Given the description of an element on the screen output the (x, y) to click on. 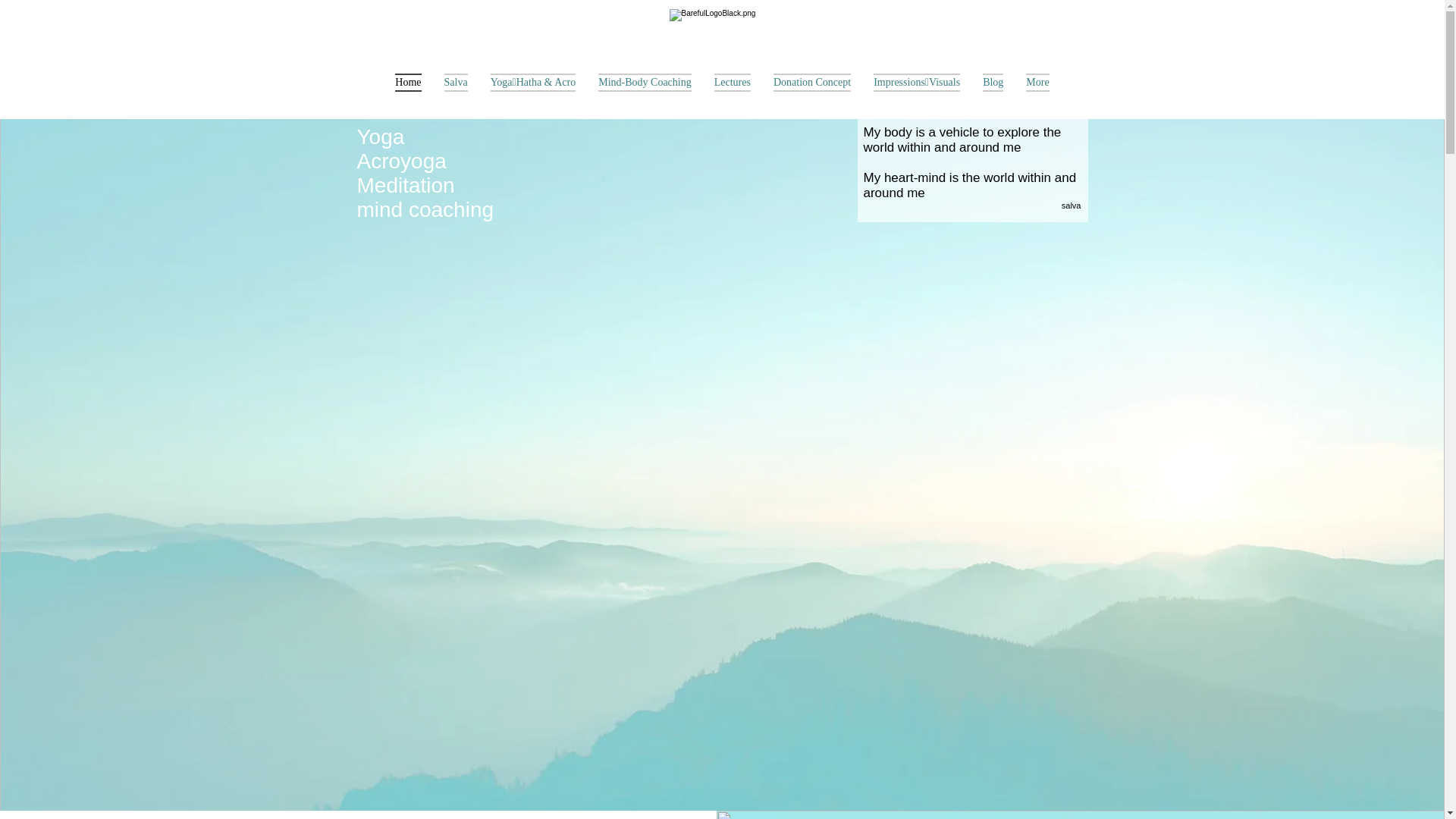
Salva Element type: text (456, 92)
Lectures Element type: text (732, 92)
Blog Element type: text (992, 92)
Mind-Body Coaching Element type: text (644, 92)
Donation Concept Element type: text (812, 92)
Home Element type: text (407, 92)
